Given the description of an element on the screen output the (x, y) to click on. 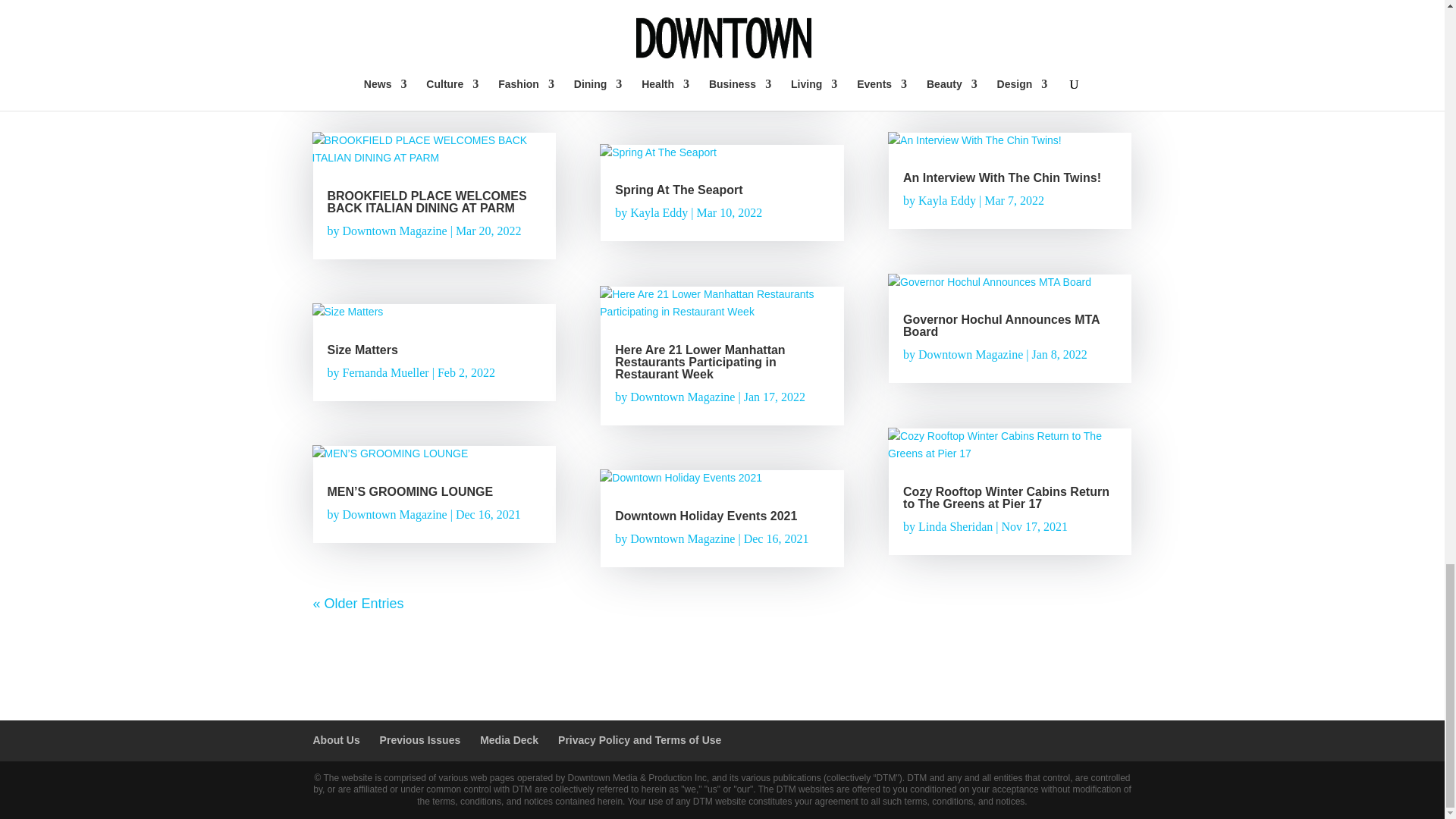
Posts by Downtown Magazine (970, 354)
Posts by Kayla Eddy (658, 212)
Posts by DTMag Intern (377, 58)
Posts by Downtown Magazine (394, 230)
Posts by Downtown Magazine (394, 513)
Posts by Mike Hammer (665, 70)
Posts by Kayla Eddy (946, 200)
Posts by Downtown Magazine (682, 538)
Posts by Linda Sheridan (955, 526)
Posts by Downtown Magazine (682, 396)
Posts by Fernanda Mueller (385, 372)
Posts by Downtown Magazine (970, 58)
